Given the description of an element on the screen output the (x, y) to click on. 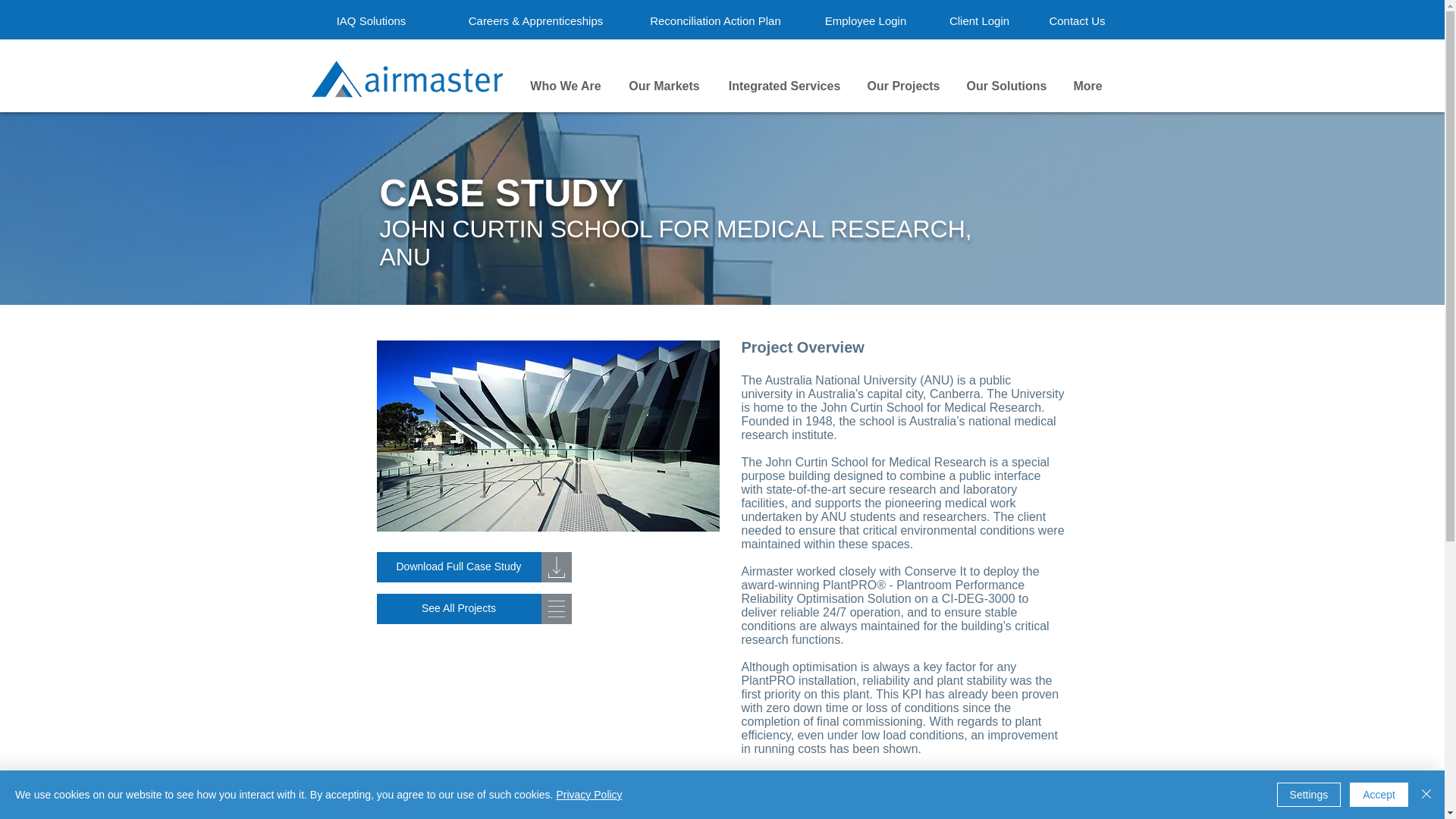
Our Projects (902, 86)
Who We Are (564, 86)
Our Markets (664, 86)
Employee Login (865, 20)
IAQ Solutions (370, 20)
Client Login (979, 20)
Integrated Services (783, 86)
Reconciliation Action Plan (715, 20)
Contact Us (1077, 20)
